Given the description of an element on the screen output the (x, y) to click on. 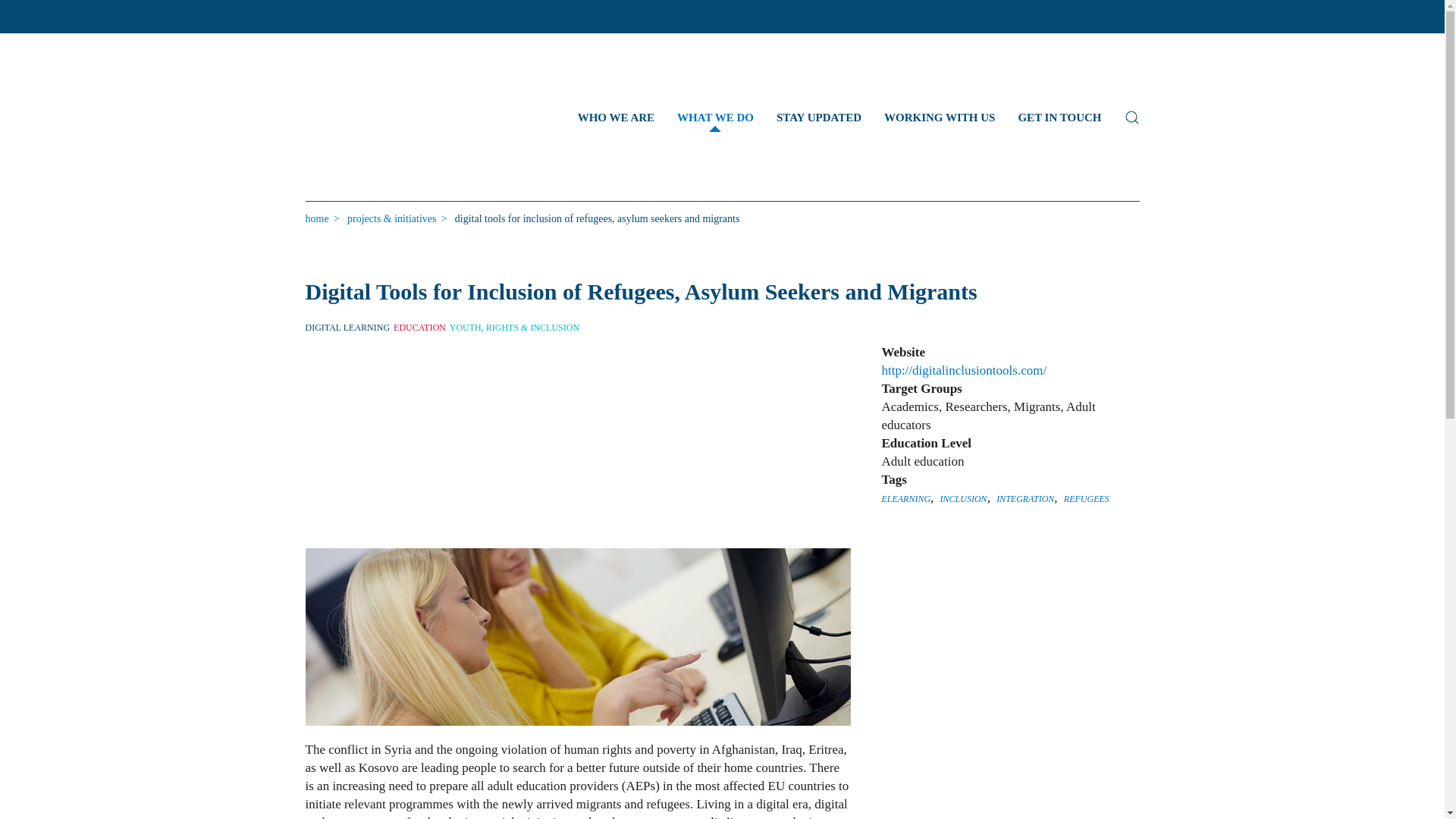
WHAT WE DO (715, 117)
WHO WE ARE (615, 117)
STAY UPDATED (818, 117)
WORKING WITH US (938, 117)
